Given the description of an element on the screen output the (x, y) to click on. 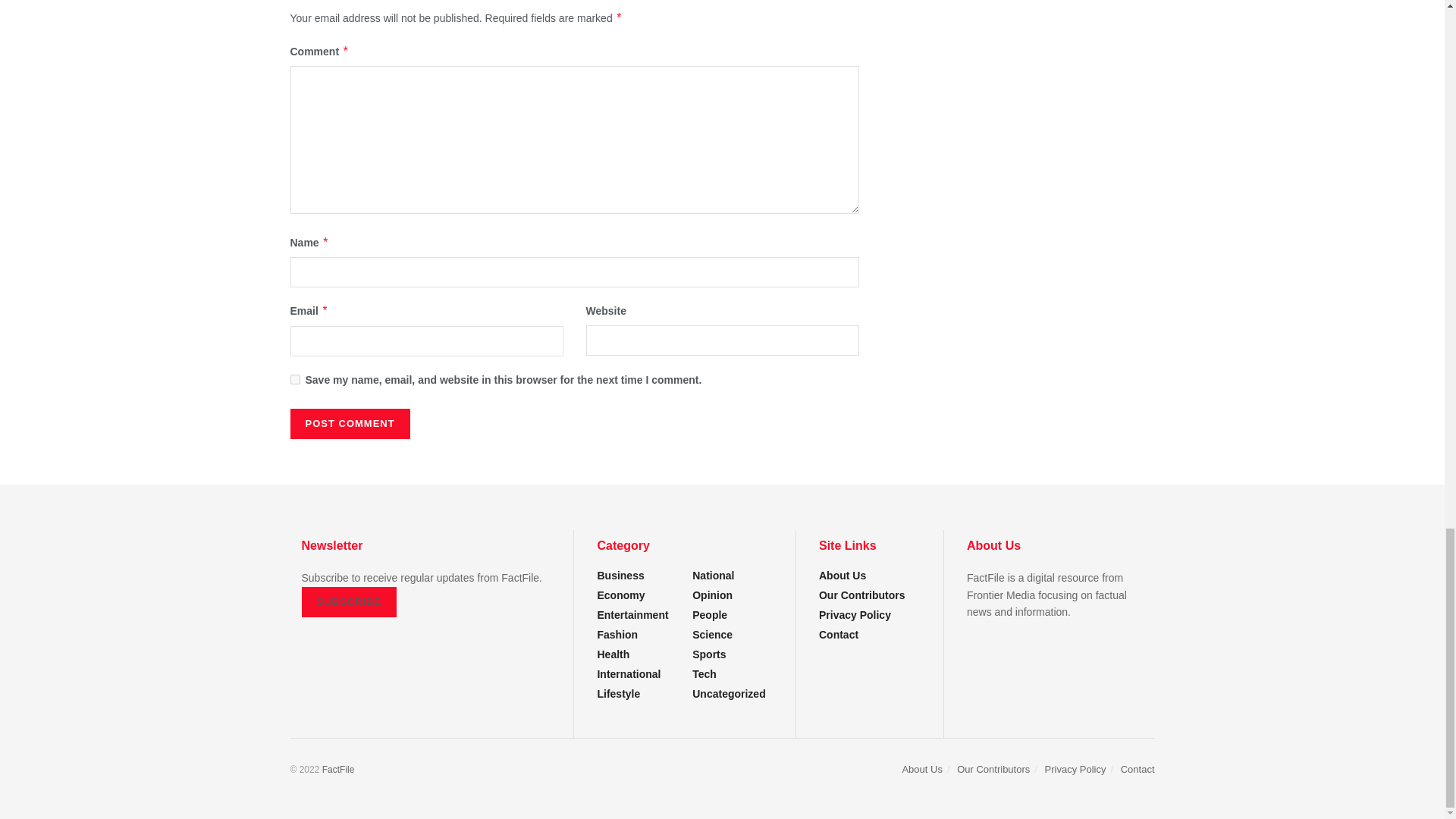
Post Comment (349, 423)
yes (294, 379)
